Given the description of an element on the screen output the (x, y) to click on. 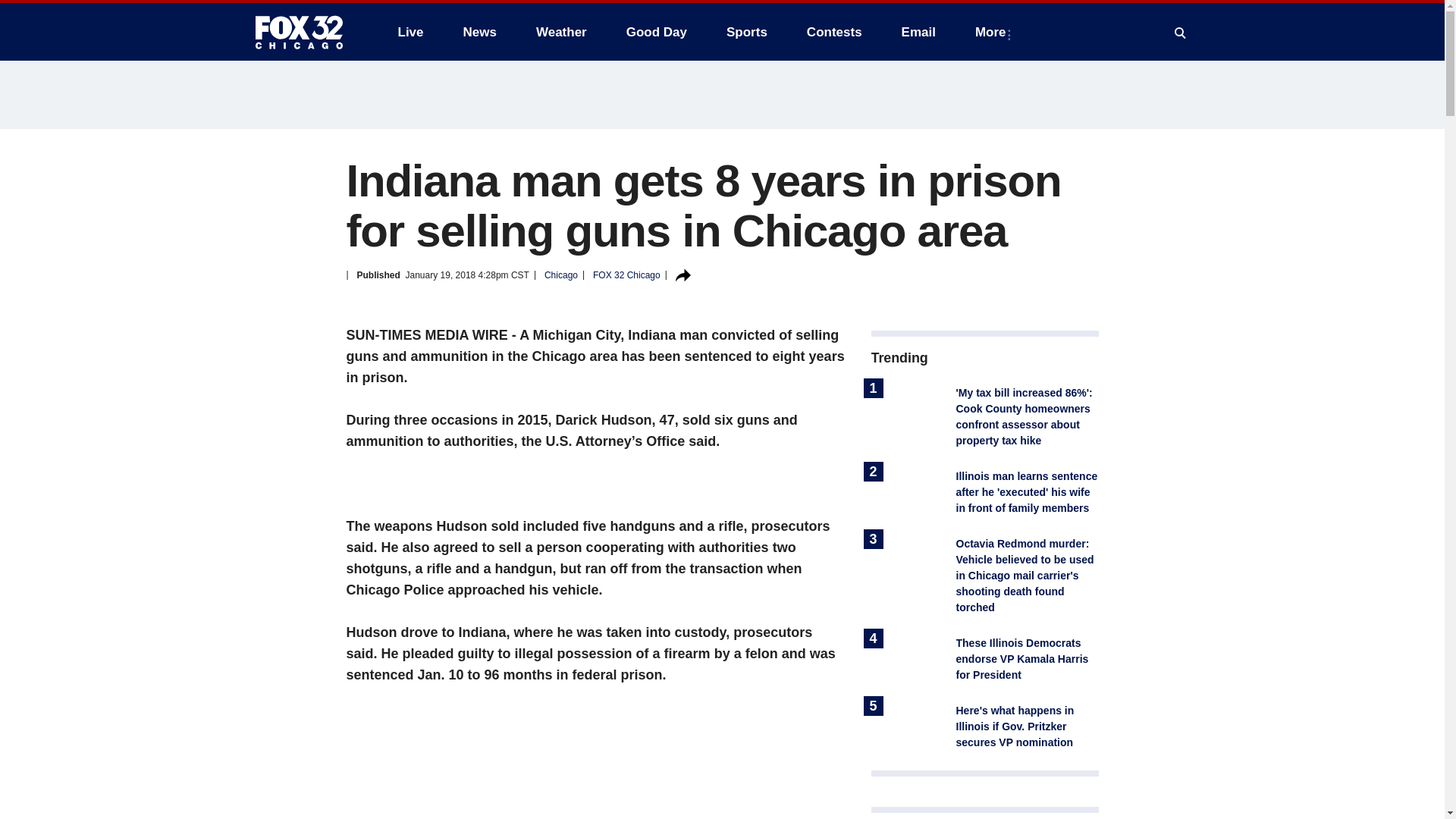
Weather (561, 32)
News (479, 32)
Sports (746, 32)
Email (918, 32)
Good Day (656, 32)
More (993, 32)
Live (410, 32)
Contests (834, 32)
